Given the description of an element on the screen output the (x, y) to click on. 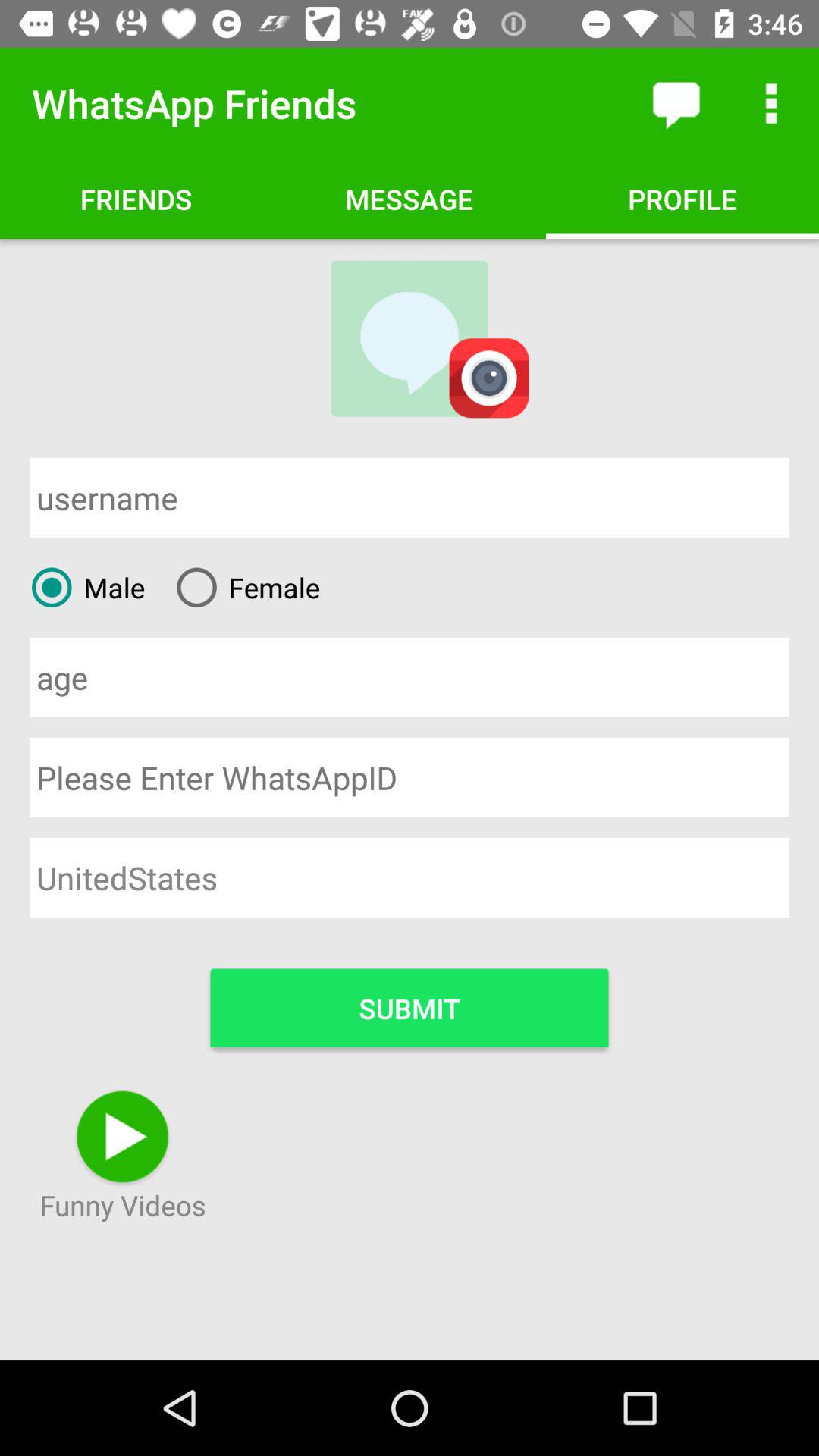
tap icon above funny videos item (409, 1007)
